Given the description of an element on the screen output the (x, y) to click on. 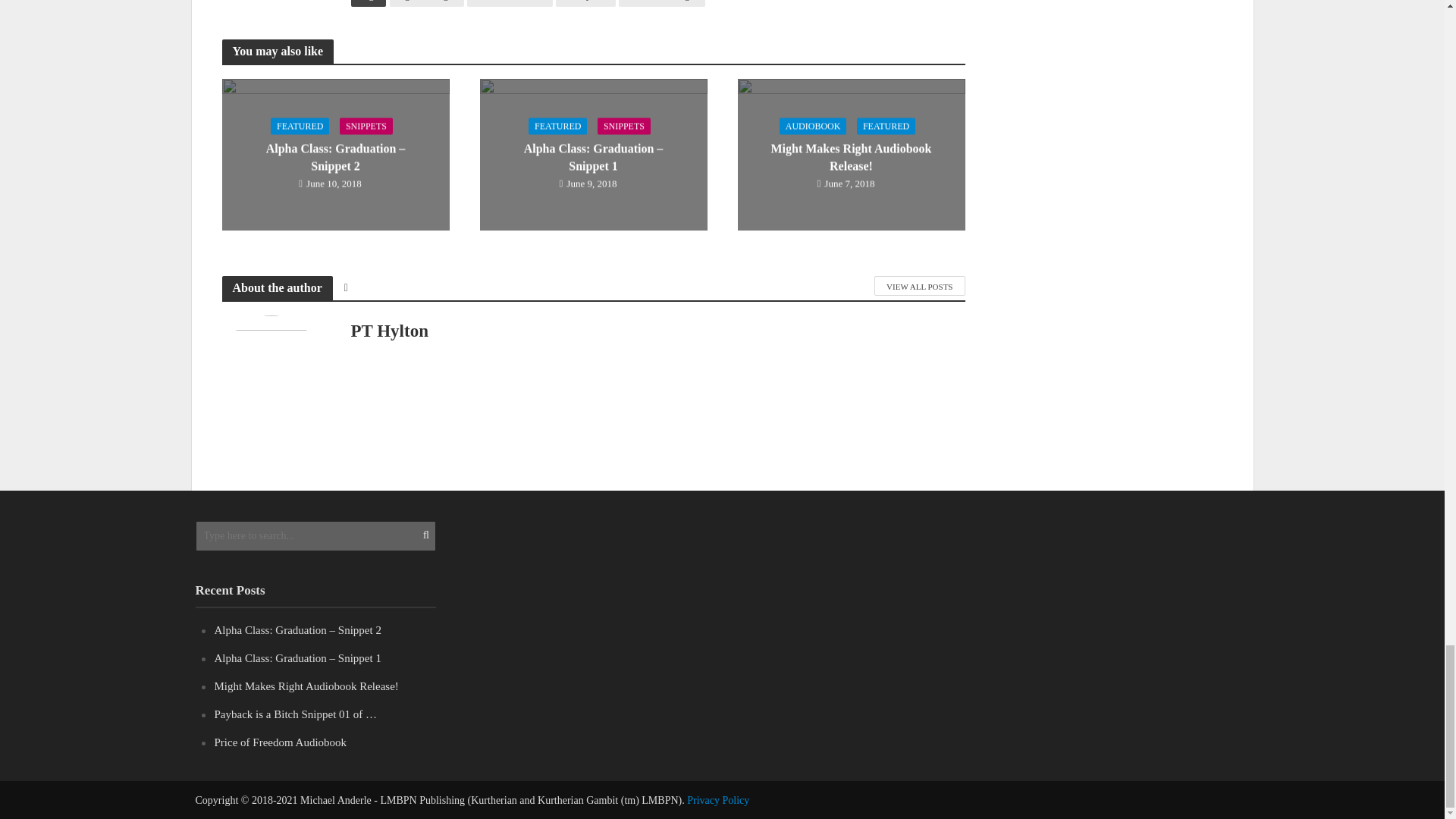
Might Makes Right Audiobook Release! (849, 153)
